Given the description of an element on the screen output the (x, y) to click on. 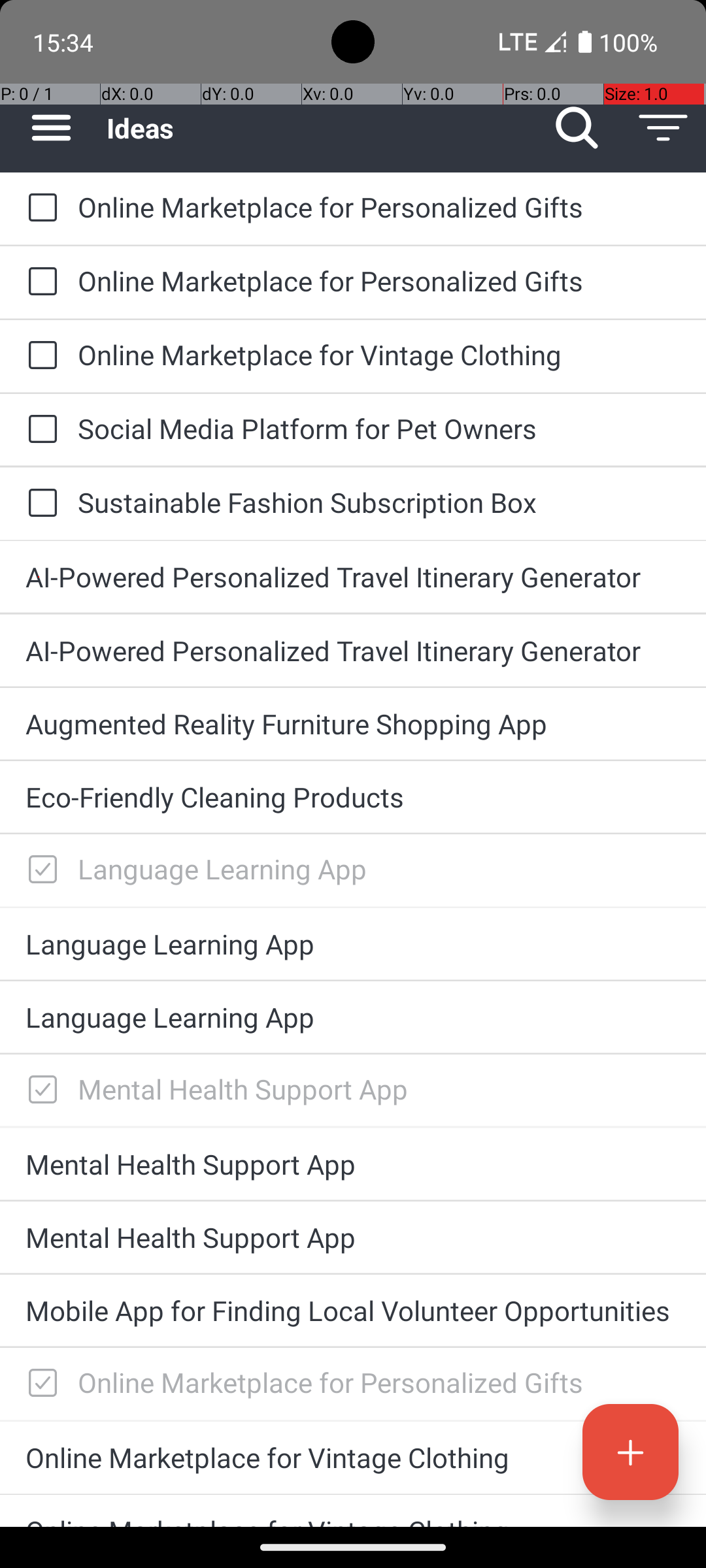
to-do: Online Marketplace for Personalized Gifts Element type: android.widget.CheckBox (38, 208)
Online Marketplace for Personalized Gifts Element type: android.widget.TextView (378, 206)
to-do: Online Marketplace for Vintage Clothing Element type: android.widget.CheckBox (38, 356)
Online Marketplace for Vintage Clothing Element type: android.widget.TextView (378, 354)
to-do: Social Media Platform for Pet Owners Element type: android.widget.CheckBox (38, 429)
Social Media Platform for Pet Owners Element type: android.widget.TextView (378, 427)
to-do: Sustainable Fashion Subscription Box Element type: android.widget.CheckBox (38, 503)
Sustainable Fashion Subscription Box Element type: android.widget.TextView (378, 501)
AI-Powered Personalized Travel Itinerary Generator Element type: android.widget.TextView (352, 576)
Augmented Reality Furniture Shopping App Element type: android.widget.TextView (352, 723)
to-do: Language Learning App Element type: android.widget.CheckBox (38, 870)
Language Learning App Element type: android.widget.TextView (378, 868)
to-do: Mental Health Support App Element type: android.widget.CheckBox (38, 1090)
Mental Health Support App Element type: android.widget.TextView (378, 1088)
Mobile App for Finding Local Volunteer Opportunities Element type: android.widget.TextView (352, 1309)
